Given the description of an element on the screen output the (x, y) to click on. 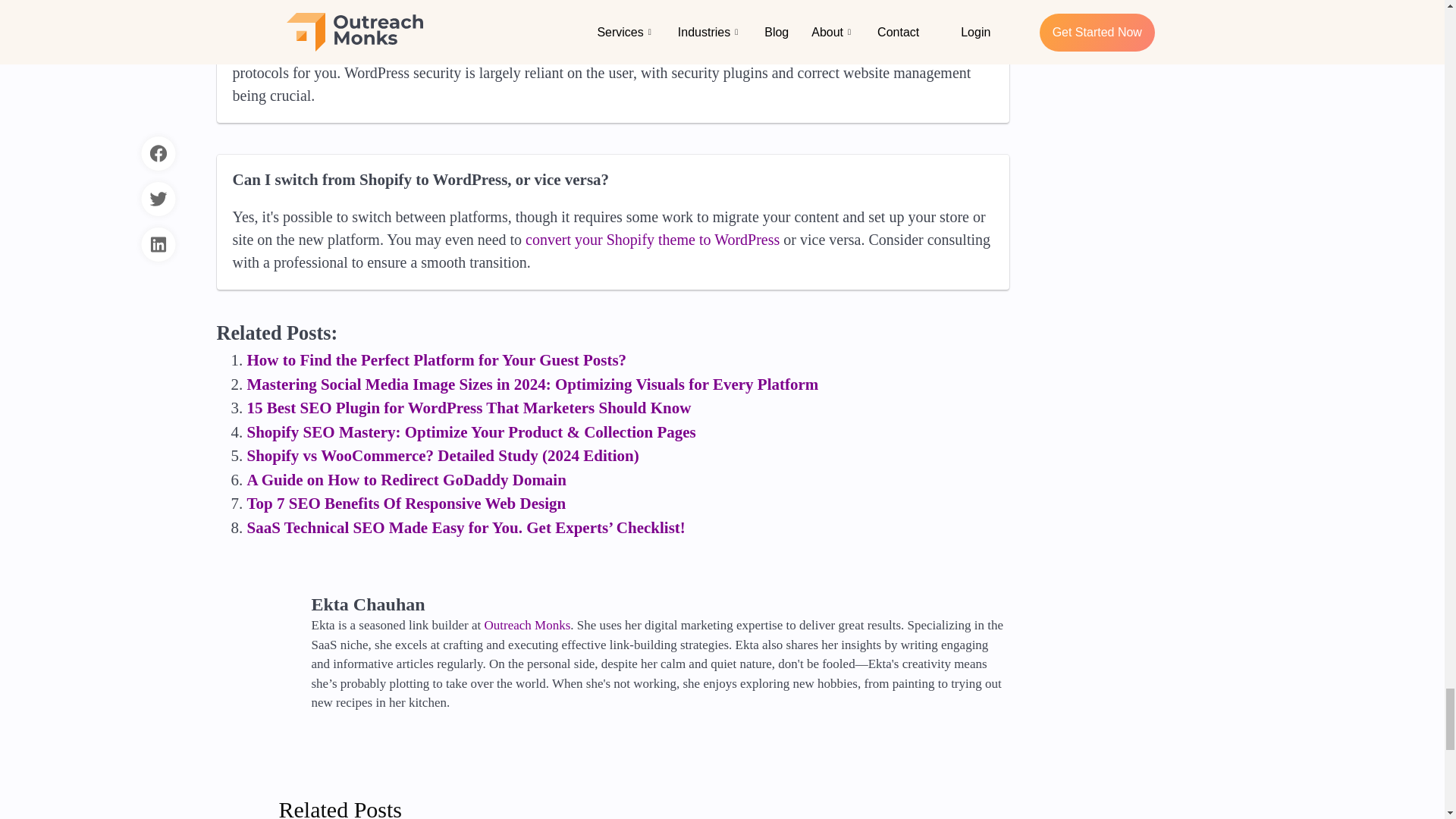
15 Best SEO Plugin for WordPress That Marketers Should Know (469, 407)
How to Find the Perfect Platform for Your Guest Posts? (437, 360)
